Given the description of an element on the screen output the (x, y) to click on. 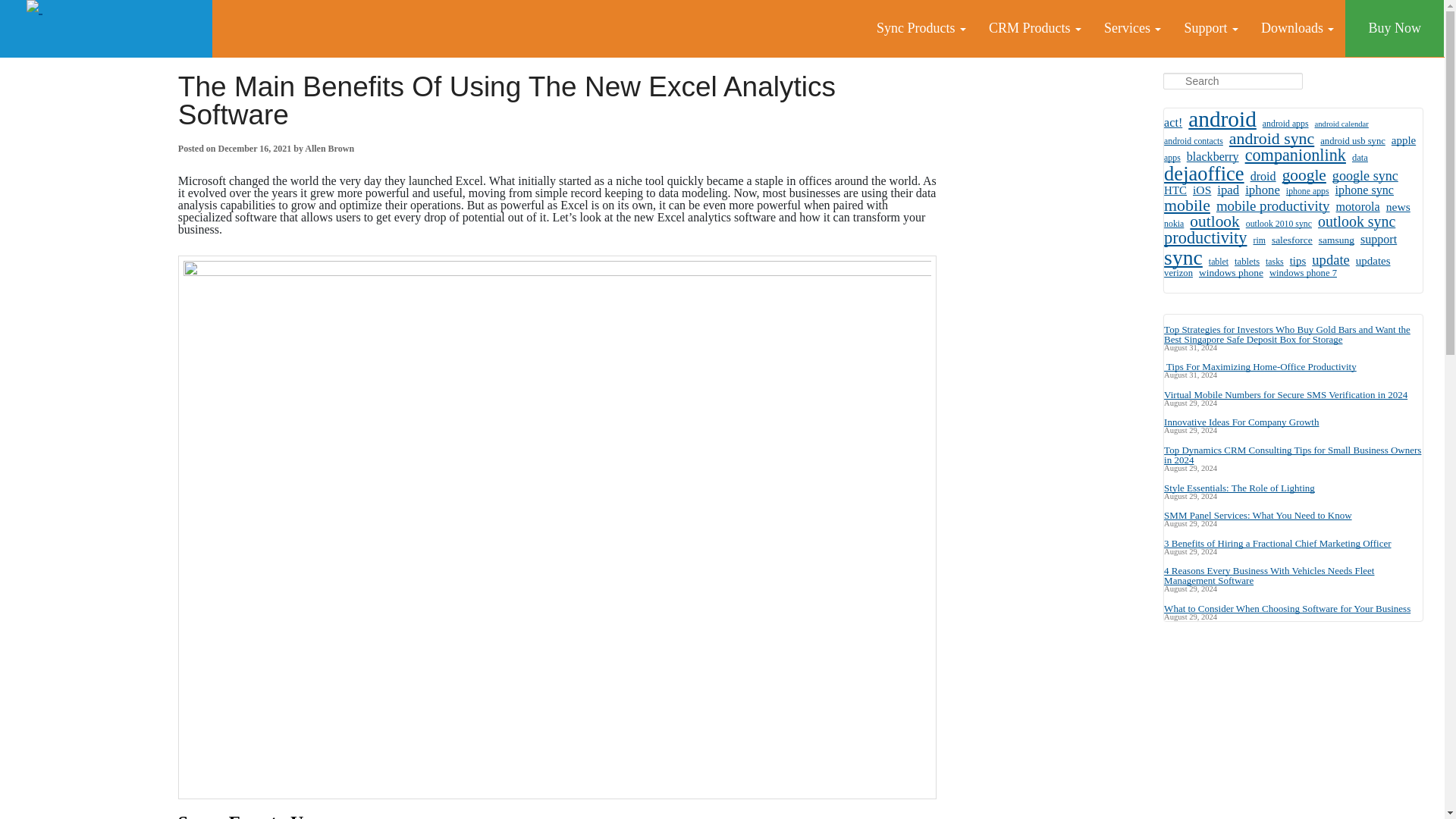
Services (1132, 28)
Support (1210, 28)
CompanionLink Home (106, 28)
Sync Products (920, 28)
Downloads (1297, 28)
CRM Products (1034, 28)
